Given the description of an element on the screen output the (x, y) to click on. 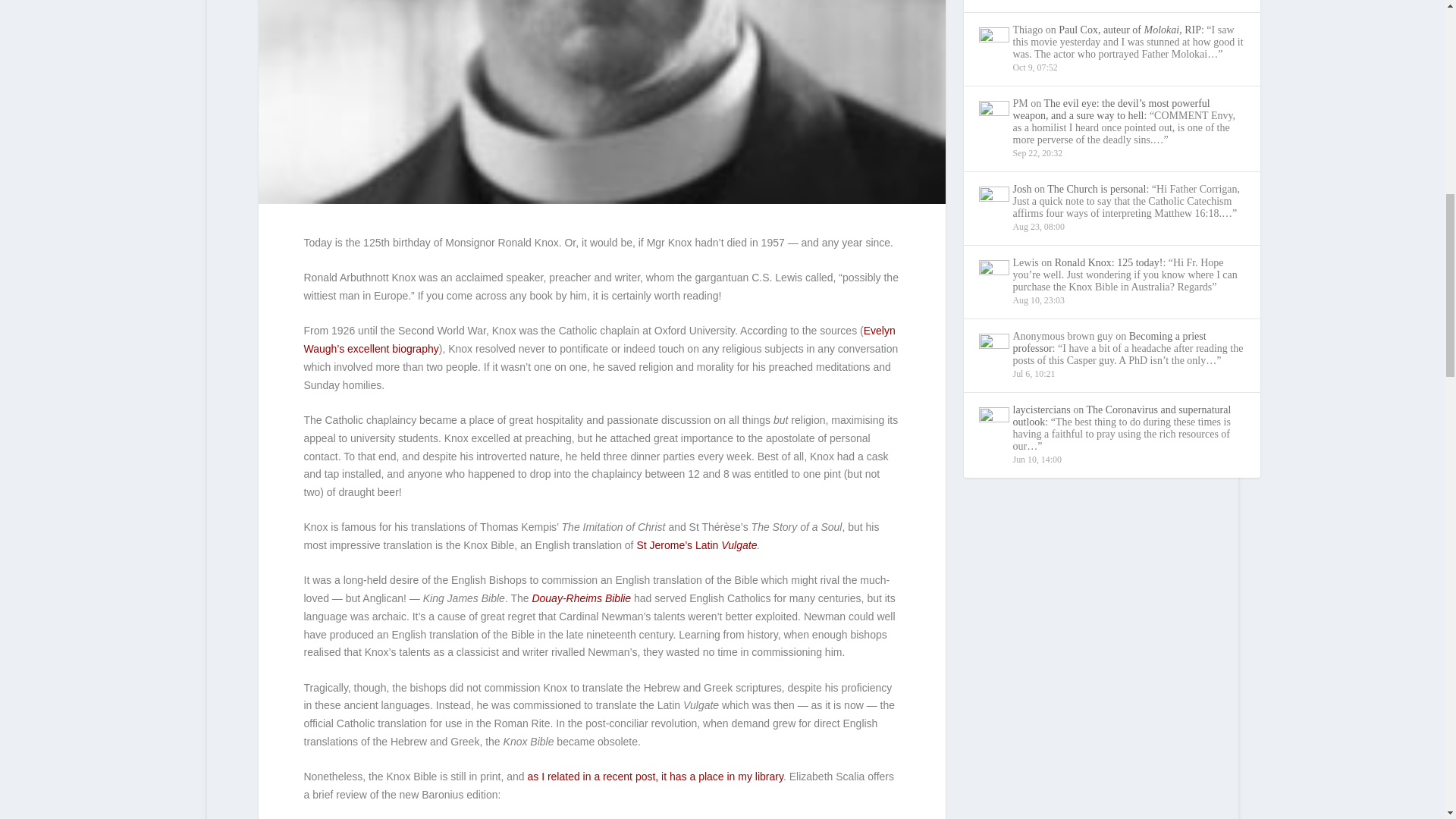
Vulgate (738, 544)
Douay-Rheims Biblie (580, 598)
as I related in a recent post, it has a place in my library (655, 776)
